Given the description of an element on the screen output the (x, y) to click on. 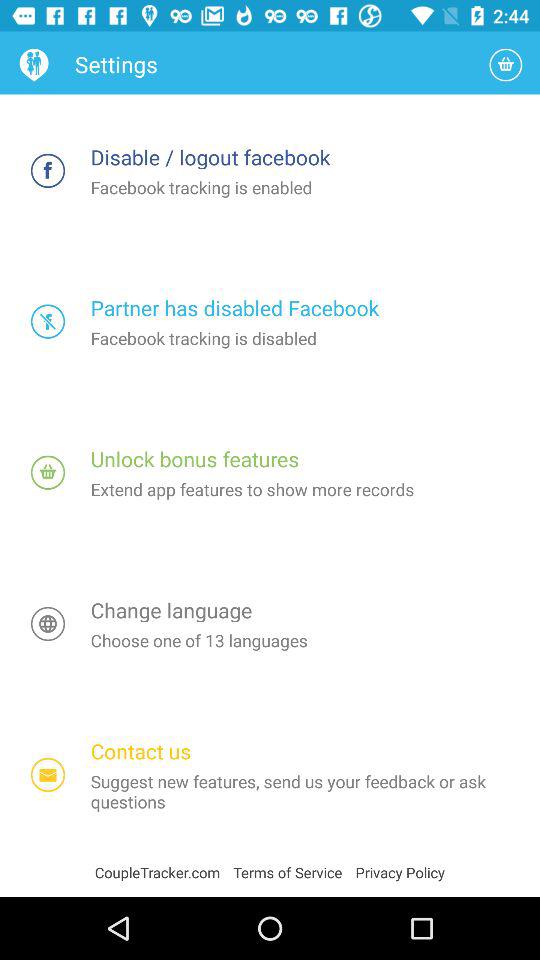
disconnect facebook (47, 170)
